Given the description of an element on the screen output the (x, y) to click on. 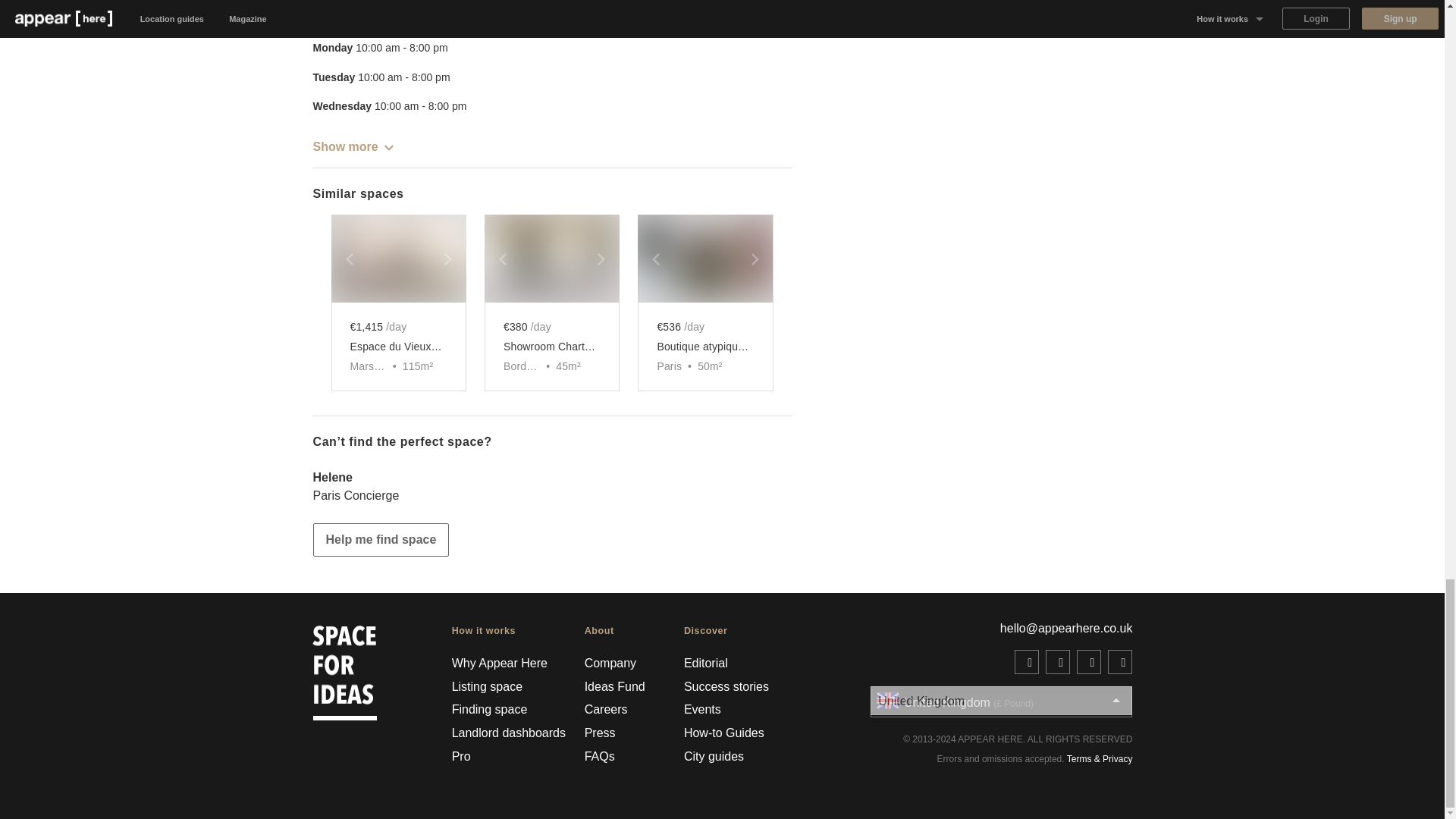
Chevron-up (388, 147)
